Given the description of an element on the screen output the (x, y) to click on. 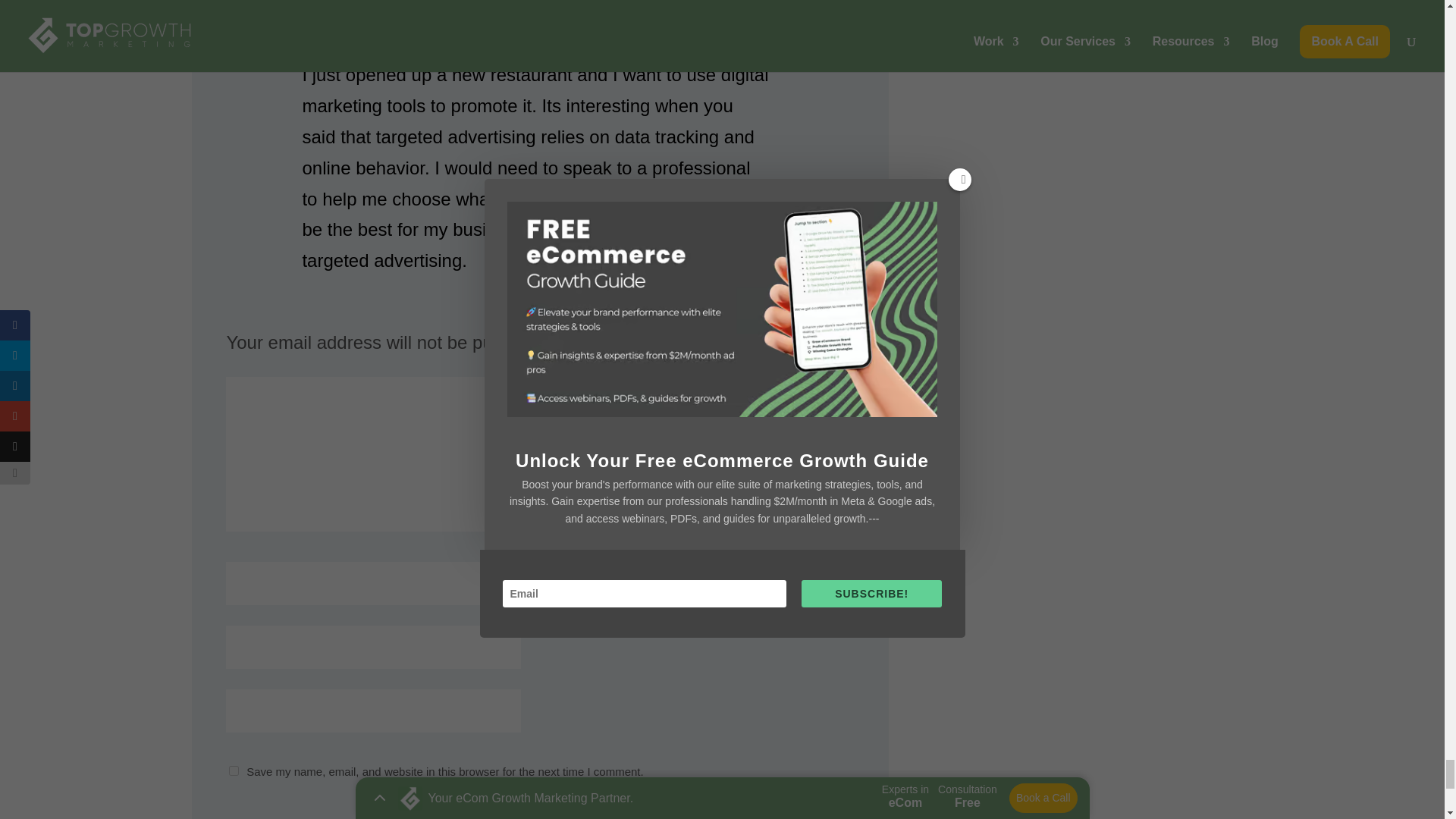
yes (233, 770)
